Given the description of an element on the screen output the (x, y) to click on. 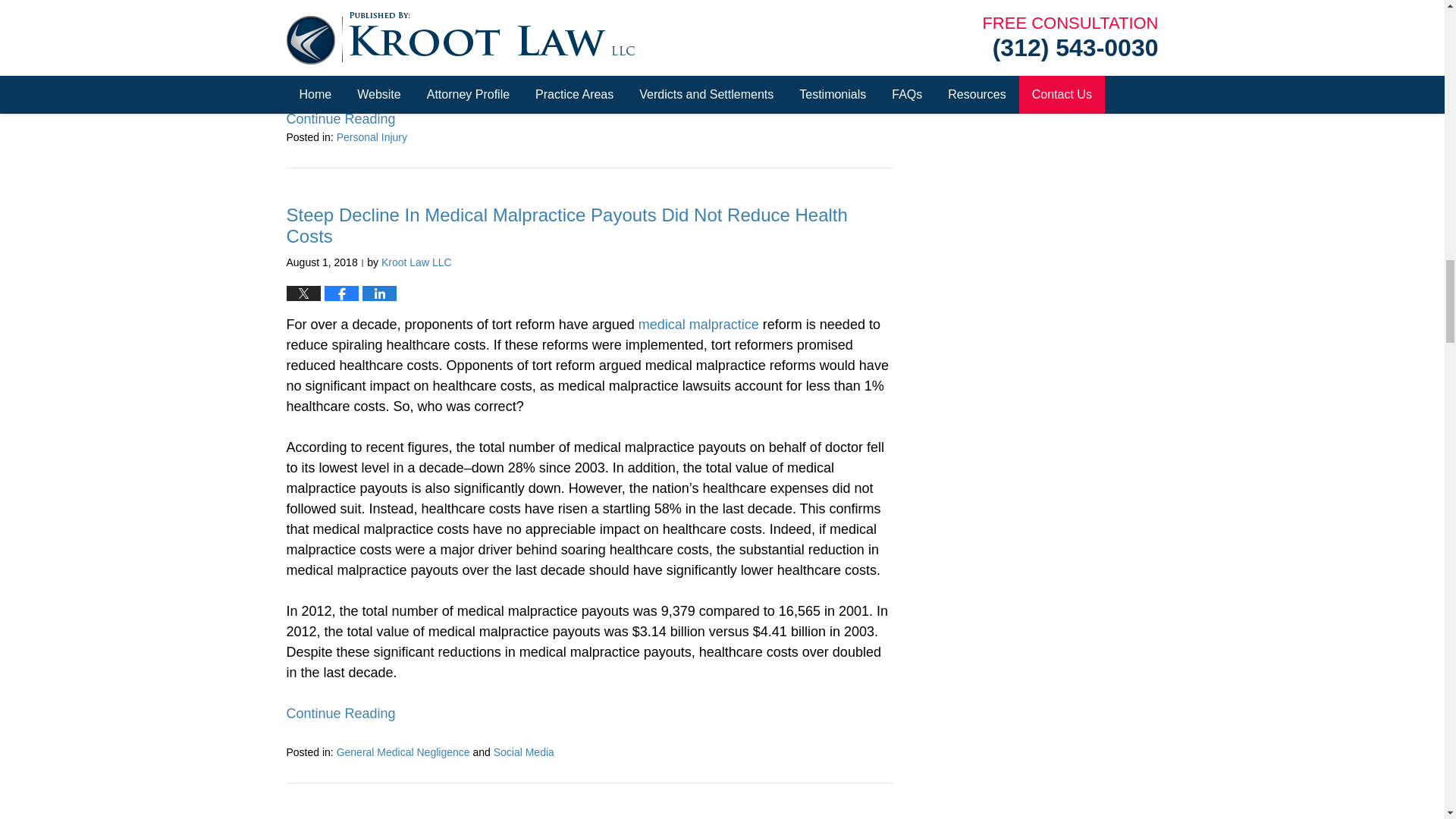
View all posts in General Medical Negligence (403, 752)
View all posts in Social Media (523, 752)
View all posts in Personal Injury (371, 137)
